Given the description of an element on the screen output the (x, y) to click on. 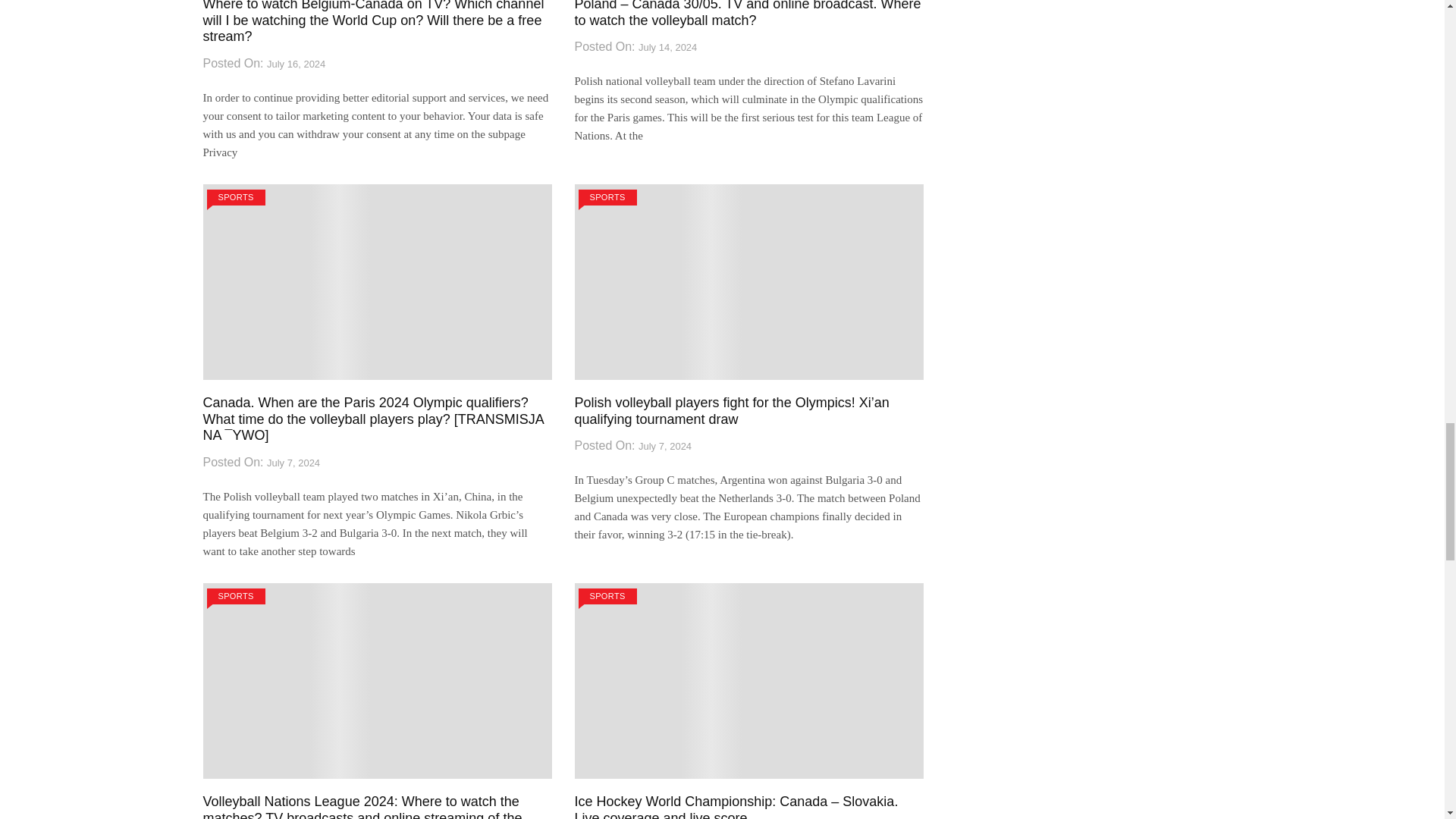
July 16, 2024 (295, 64)
SPORTS (235, 197)
July 14, 2024 (668, 48)
July 7, 2024 (293, 463)
